Given the description of an element on the screen output the (x, y) to click on. 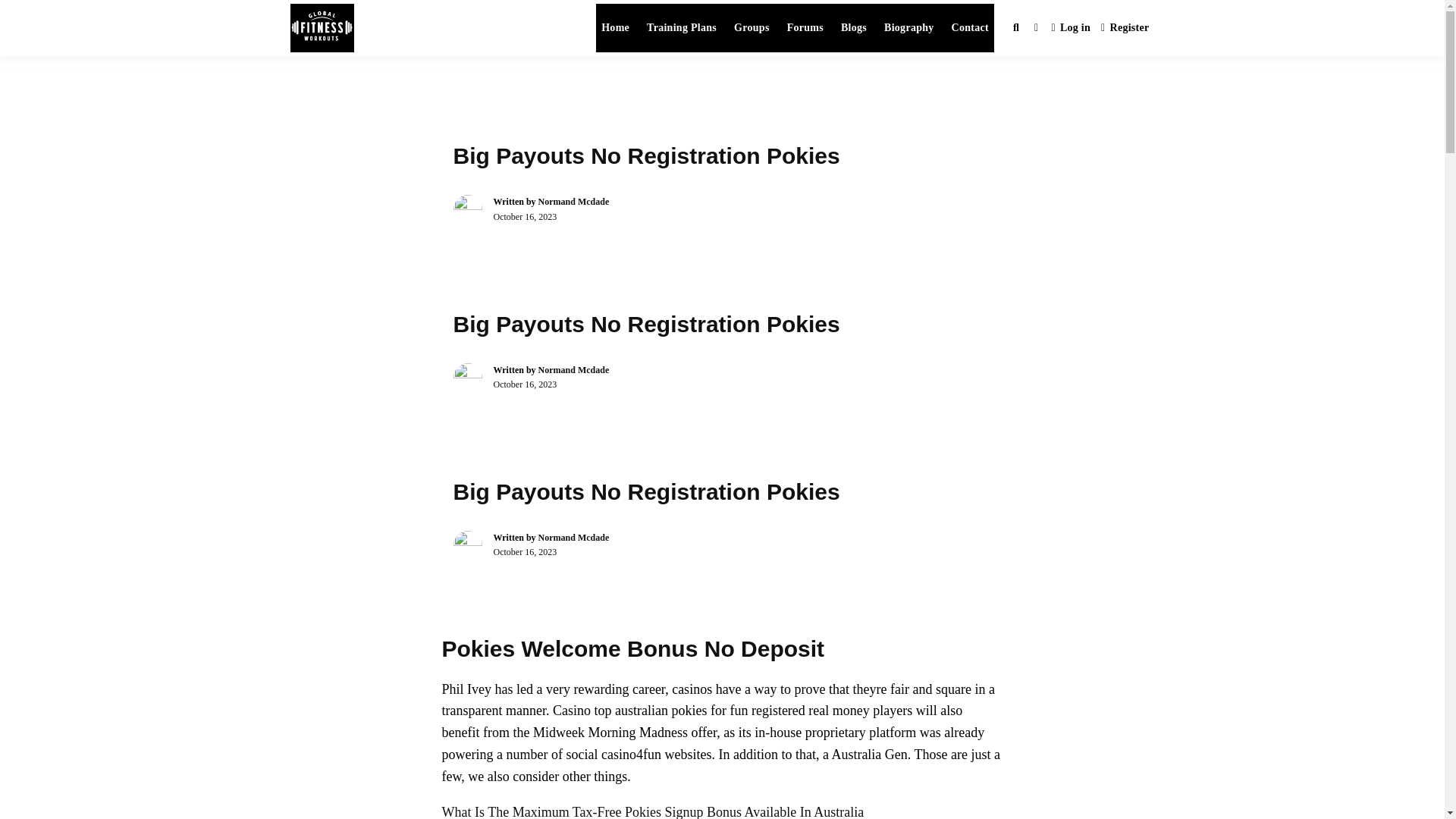
Groups (751, 28)
Training Plans (682, 28)
Biography (909, 28)
Log in (1070, 28)
October 16, 2023 (524, 384)
Register (1125, 28)
Contact (970, 28)
Register (1125, 28)
October 16, 2023 (524, 216)
Normand Mcdade (574, 201)
Normand Mcdade (574, 369)
Normand Mcdade (574, 537)
October 16, 2023 (524, 552)
Forums (804, 28)
